Given the description of an element on the screen output the (x, y) to click on. 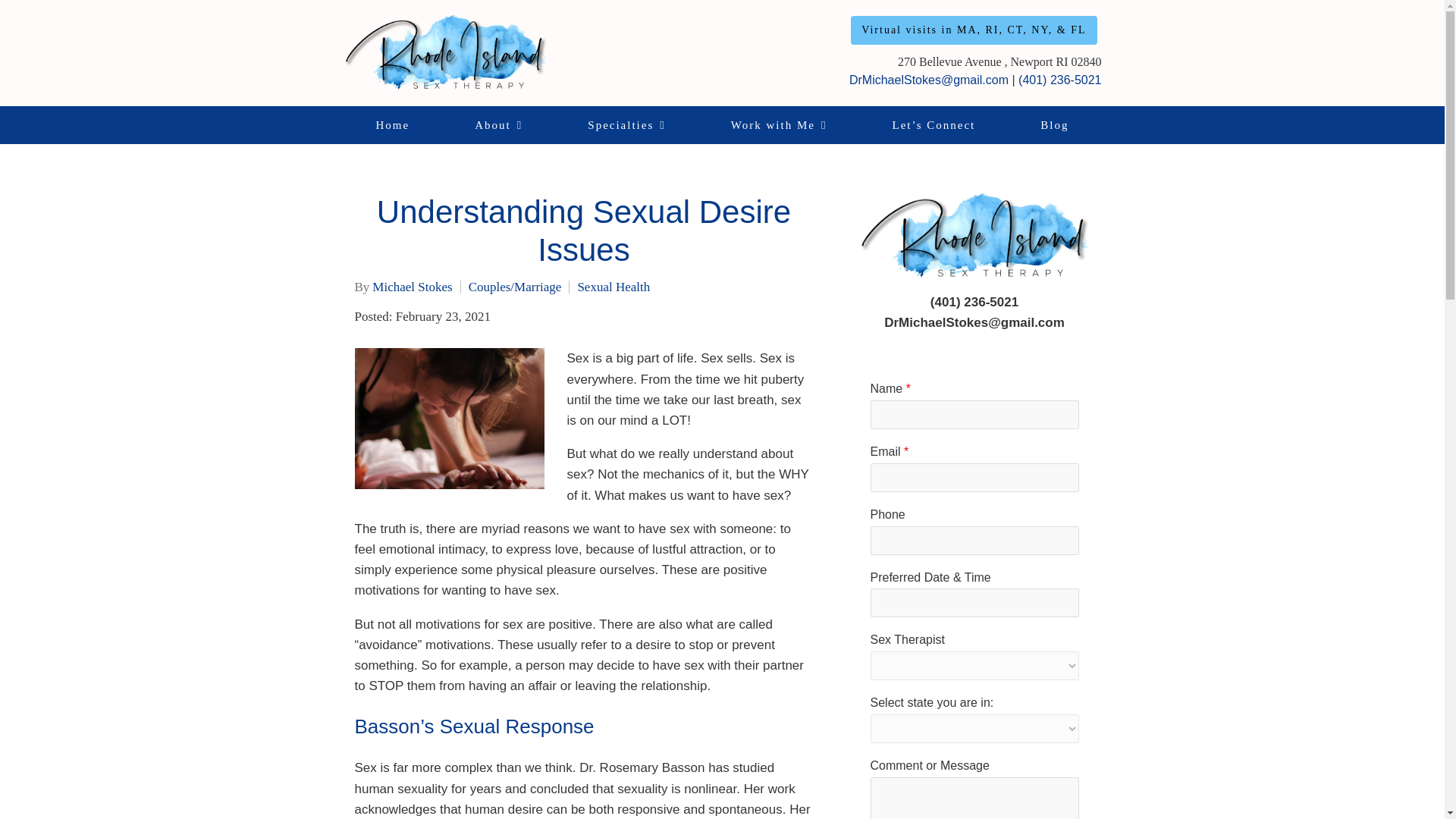
Home (392, 125)
About (498, 125)
Blog (1053, 125)
Specialties (626, 125)
Work with Me (779, 125)
Posts by Michael Stokes (411, 286)
